Given the description of an element on the screen output the (x, y) to click on. 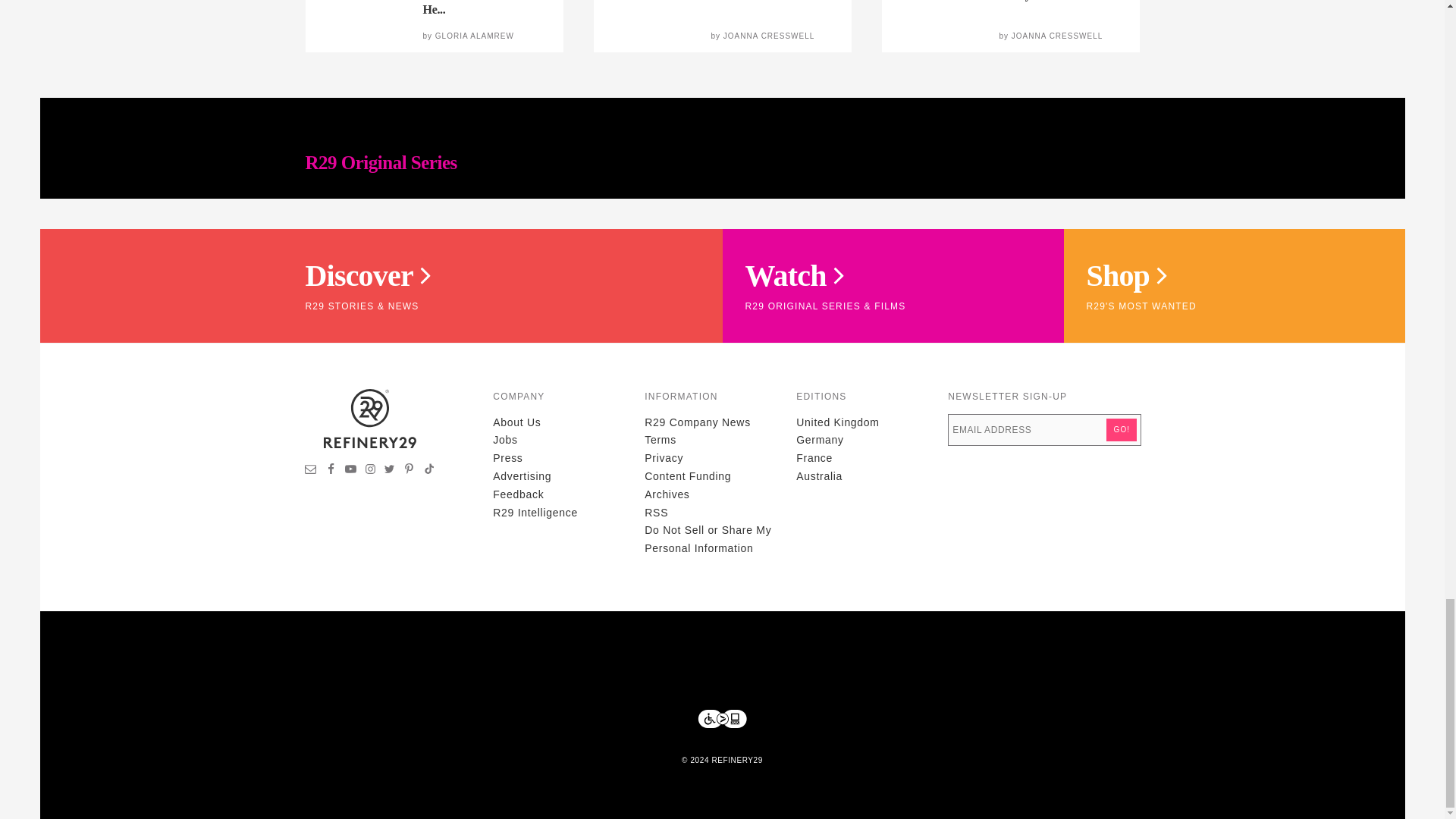
Visit Refinery29 on YouTube (350, 470)
Sign up for newsletters (310, 470)
